Given the description of an element on the screen output the (x, y) to click on. 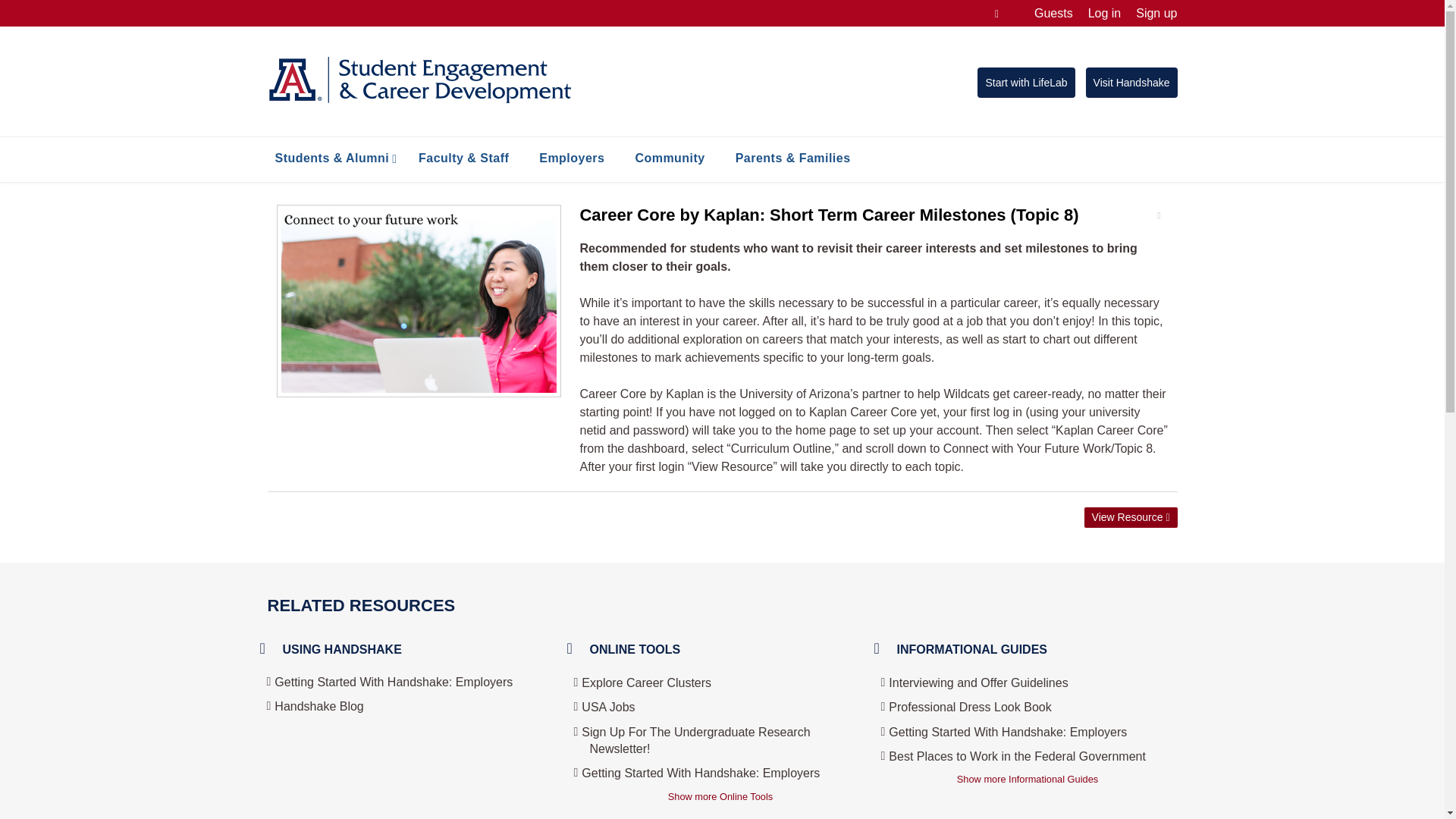
Sign up (1155, 13)
Submit Search (42, 9)
Log in to the guest contributors portal (1053, 13)
Start with LifeLab (1025, 82)
Log in (1104, 13)
Visit Handshake (1131, 82)
Sign up for an account (1155, 13)
Guests (1053, 13)
